Given the description of an element on the screen output the (x, y) to click on. 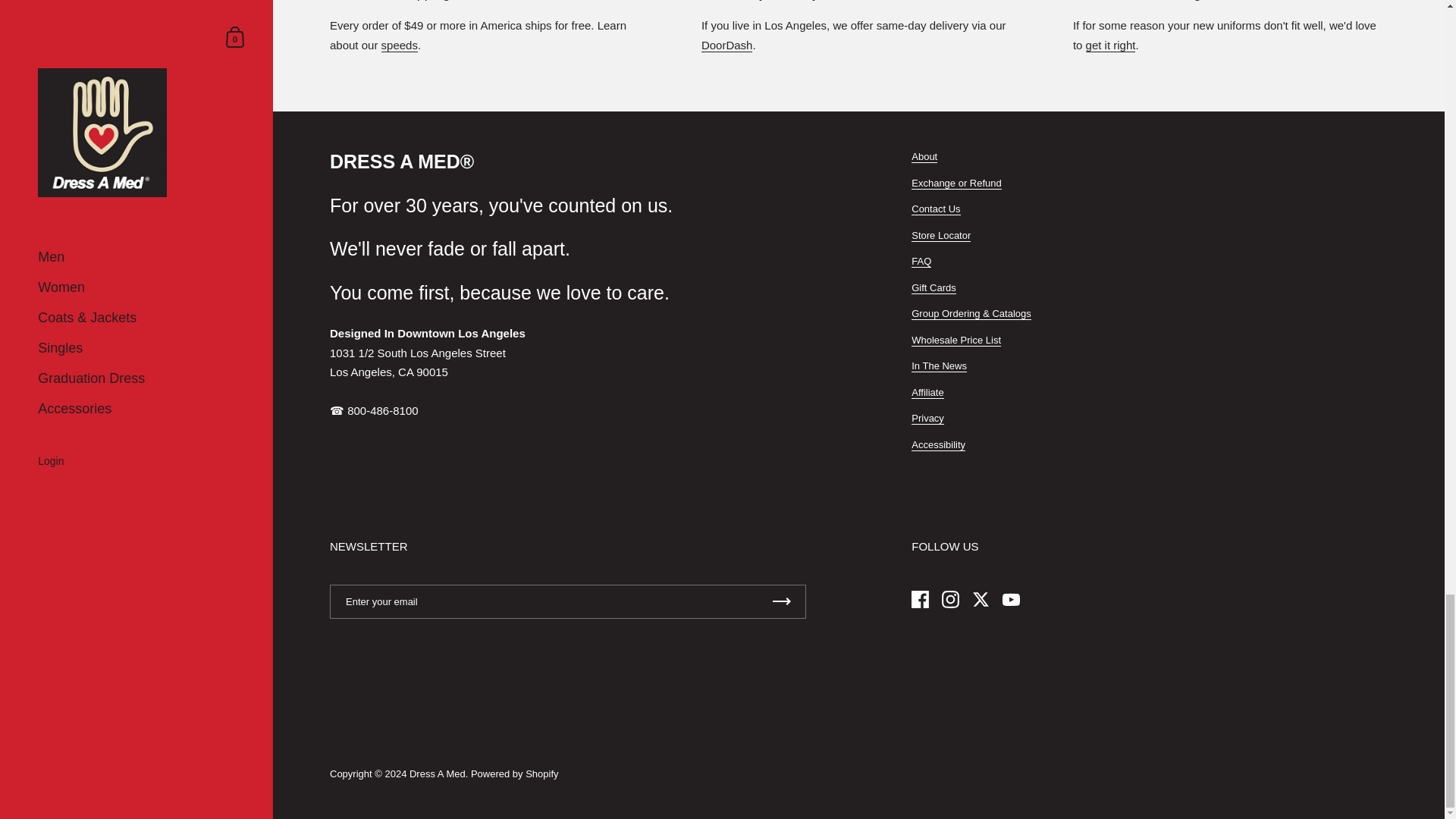
speeds (399, 45)
get it right (1110, 45)
About (924, 156)
DoorDash (726, 45)
